Given the description of an element on the screen output the (x, y) to click on. 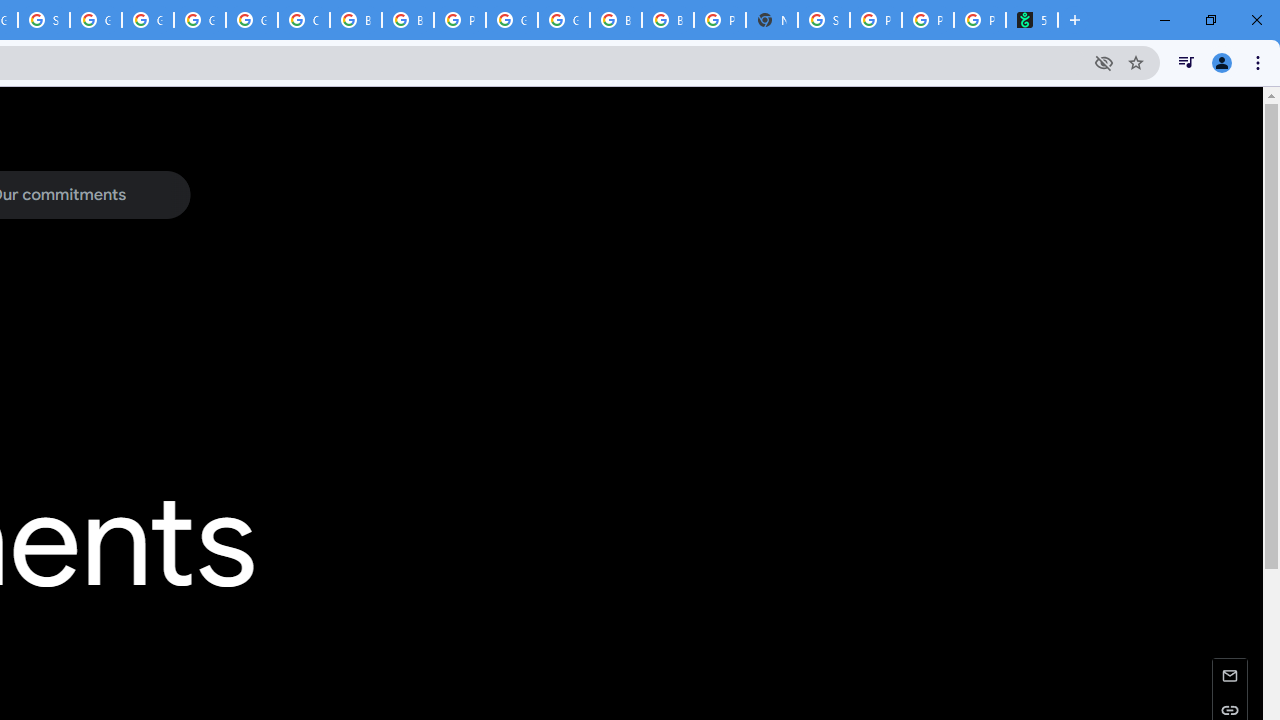
Google Cloud Platform (511, 20)
